Given the description of an element on the screen output the (x, y) to click on. 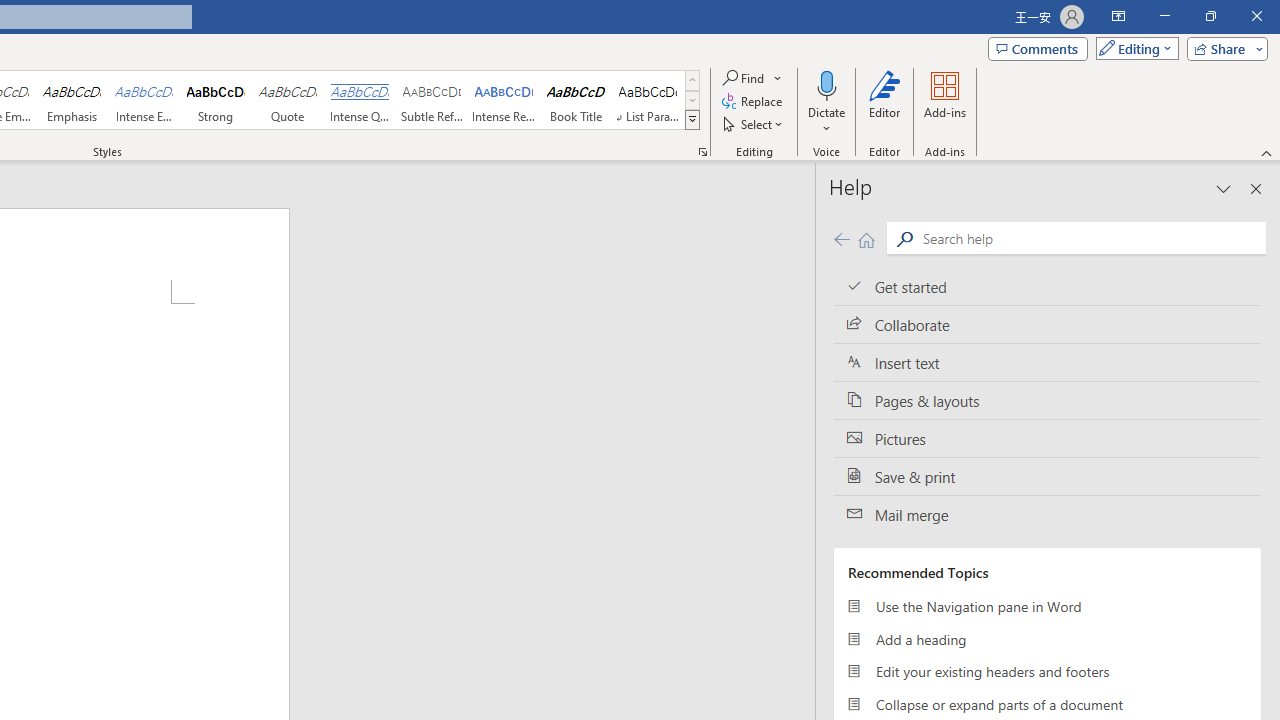
Use the Navigation pane in Word (1047, 605)
Collapse or expand parts of a document (1047, 704)
Edit your existing headers and footers (1047, 672)
Save & print (1047, 476)
Intense Reference (504, 100)
Replace... (753, 101)
Collaborate (1047, 325)
Row Down (692, 100)
Row up (692, 79)
Emphasis (71, 100)
